Given the description of an element on the screen output the (x, y) to click on. 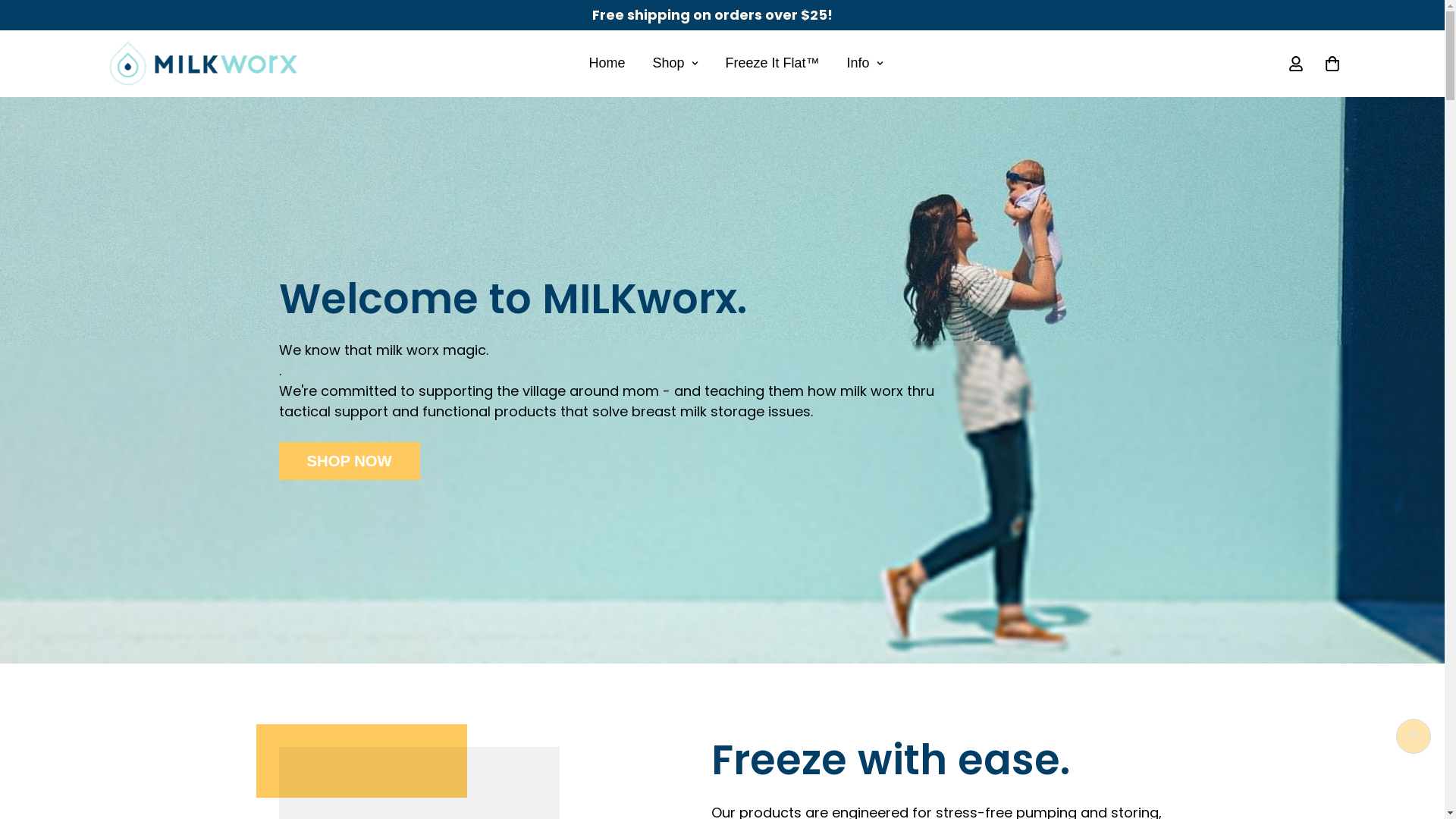
MILKworx (202, 63)
Shop (675, 63)
Home (607, 63)
SHOP NOW (349, 460)
Info (864, 63)
